Given the description of an element on the screen output the (x, y) to click on. 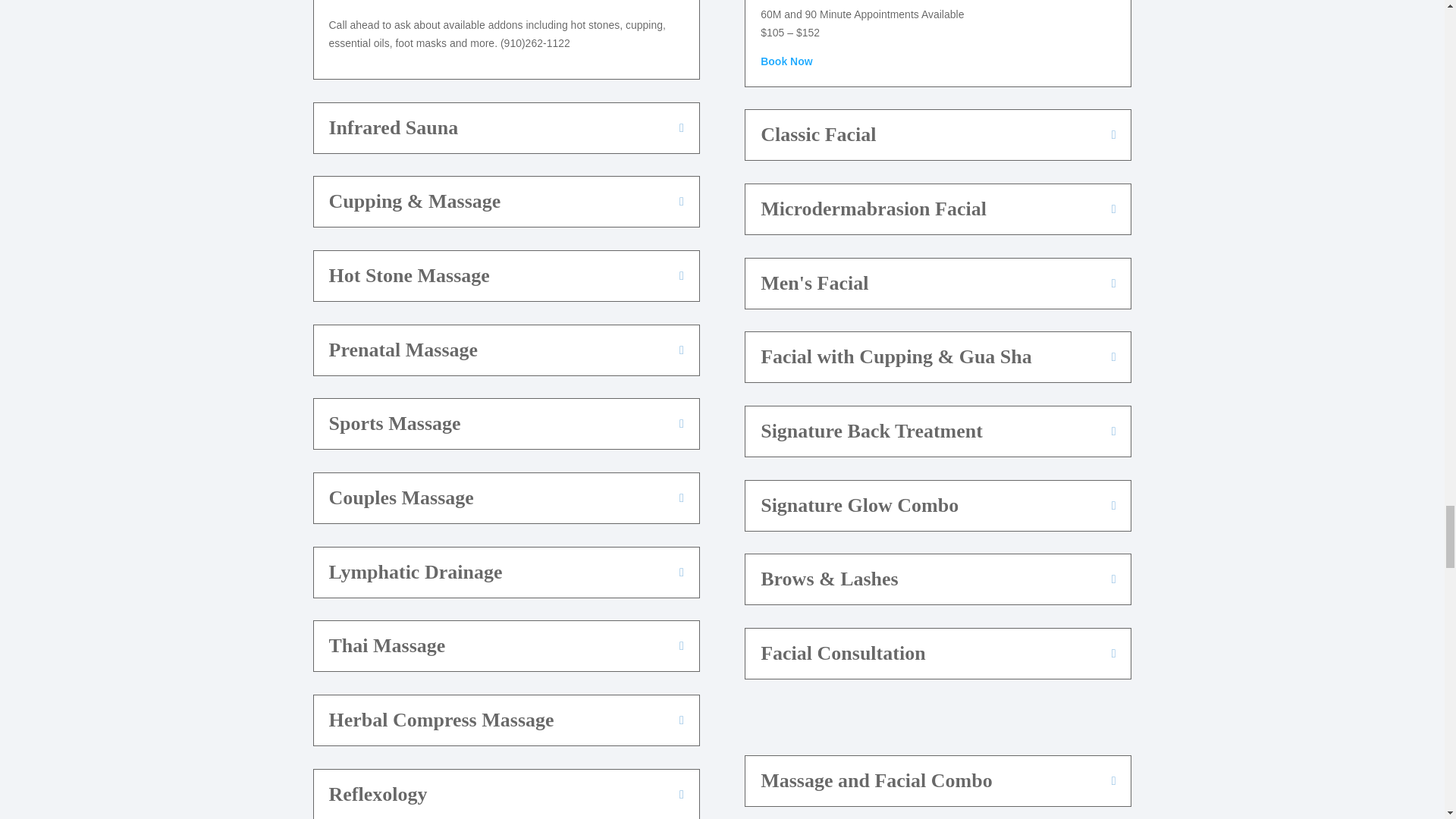
Book Now (354, 1)
